Given the description of an element on the screen output the (x, y) to click on. 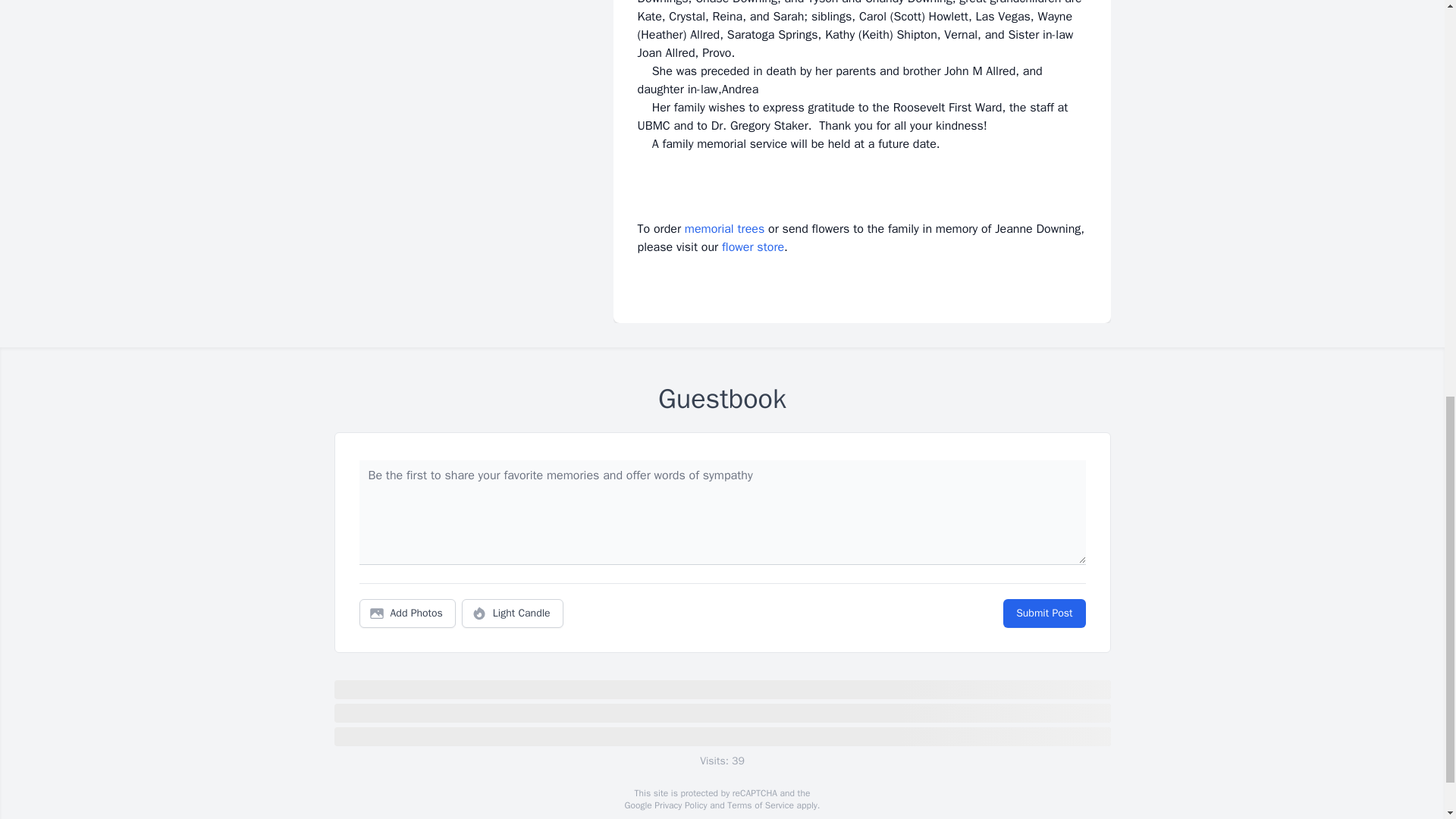
Terms of Service (759, 805)
Submit Post (1043, 613)
flower store (753, 246)
Light Candle (512, 613)
Privacy Policy (679, 805)
Add Photos (407, 613)
memorial trees (724, 228)
